Given the description of an element on the screen output the (x, y) to click on. 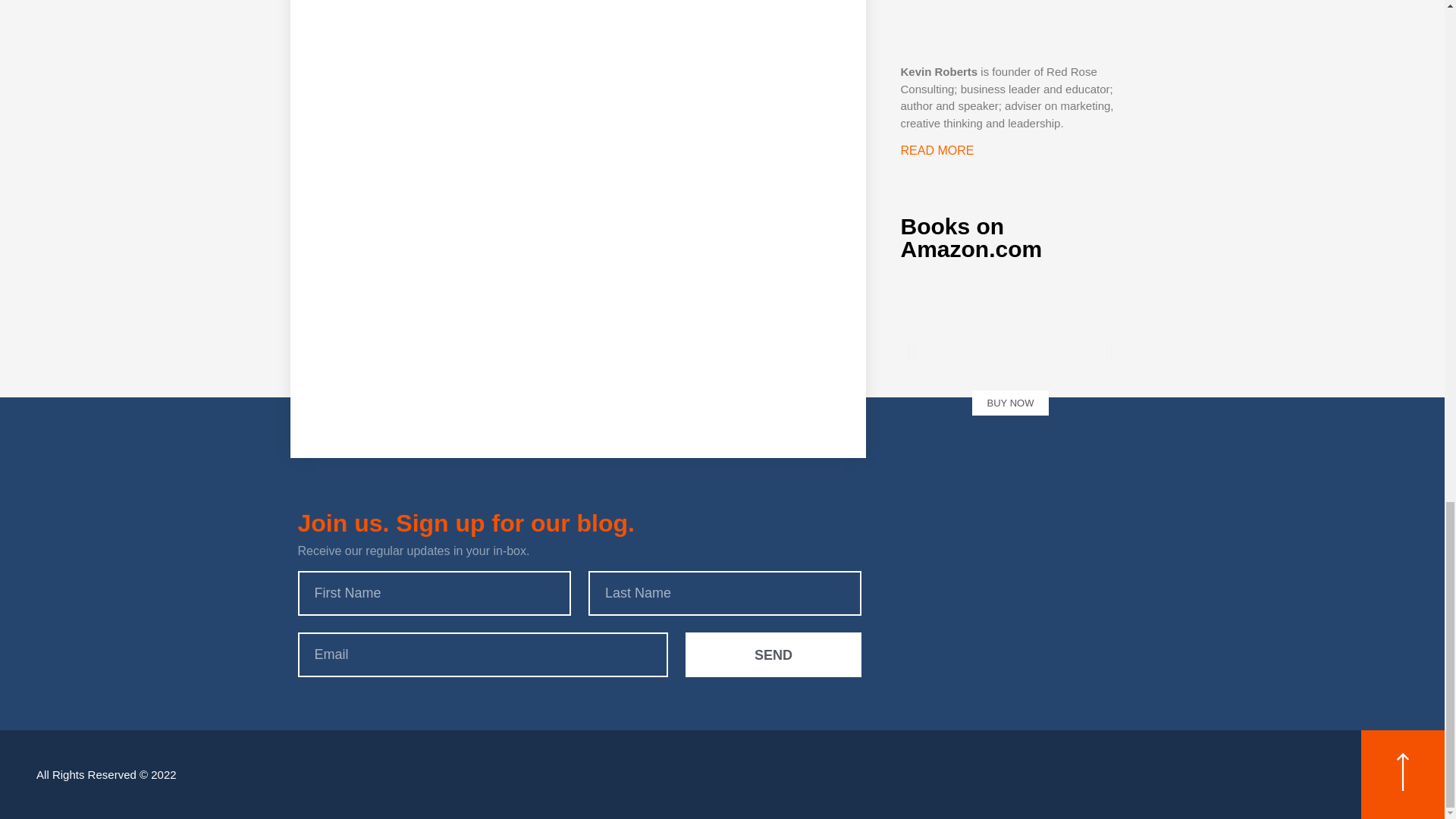
BUY NOW (1009, 351)
READ MORE (936, 150)
SEND (773, 654)
